Given the description of an element on the screen output the (x, y) to click on. 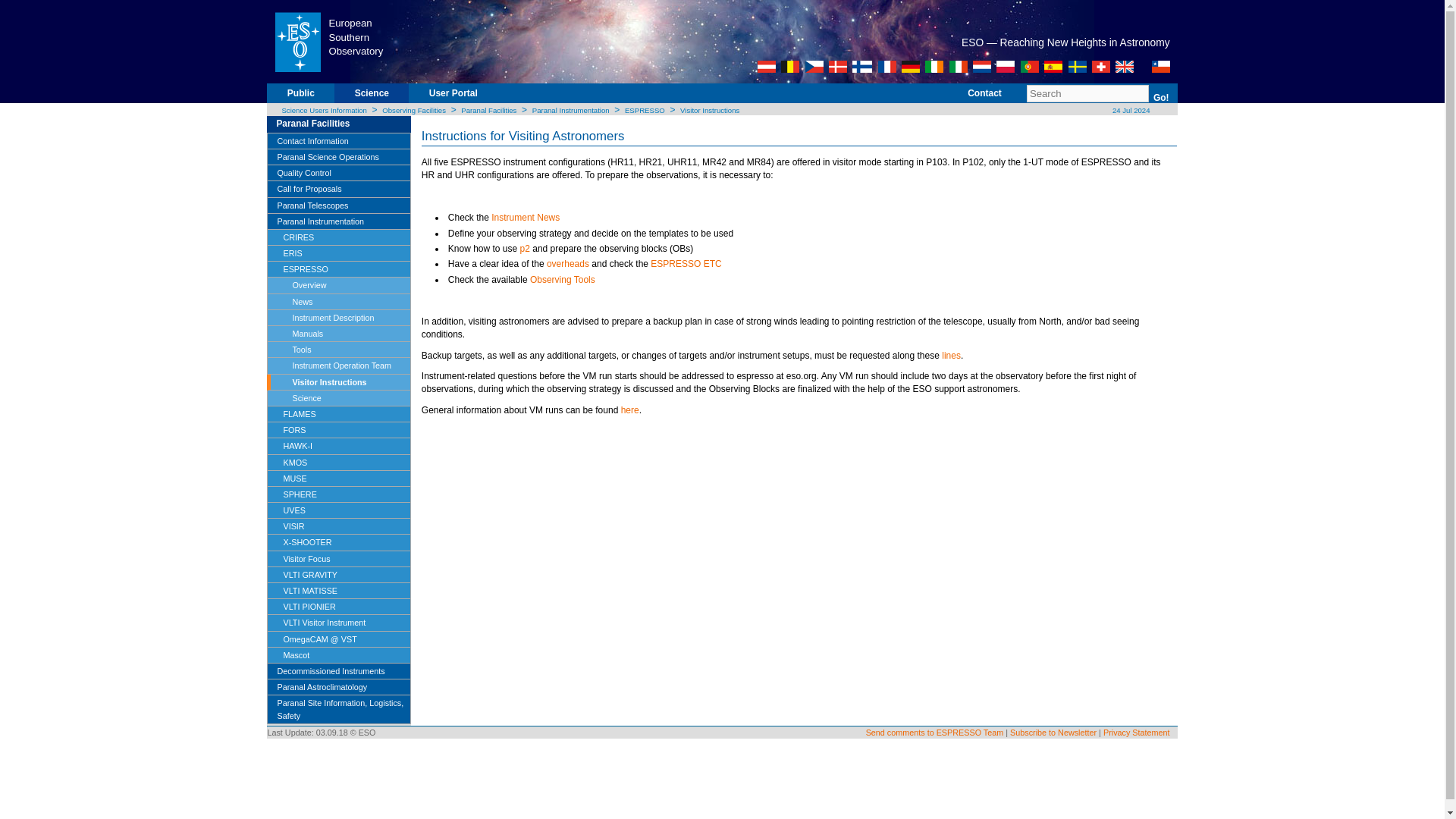
Netherlands (981, 66)
Observing Facilities (413, 110)
Paranal Science Operations (338, 157)
Contact Information (338, 141)
Czech Republic (814, 66)
Switzerland (1100, 66)
Paranal Facilities (488, 110)
Paranal Facilities (343, 124)
ESO (297, 40)
Search (1087, 93)
Go! (1160, 97)
24 Jul 2024 (1129, 110)
Visitor Instructions (709, 110)
Paranal Instrumentation (571, 110)
ESPRESSO (644, 110)
